Given the description of an element on the screen output the (x, y) to click on. 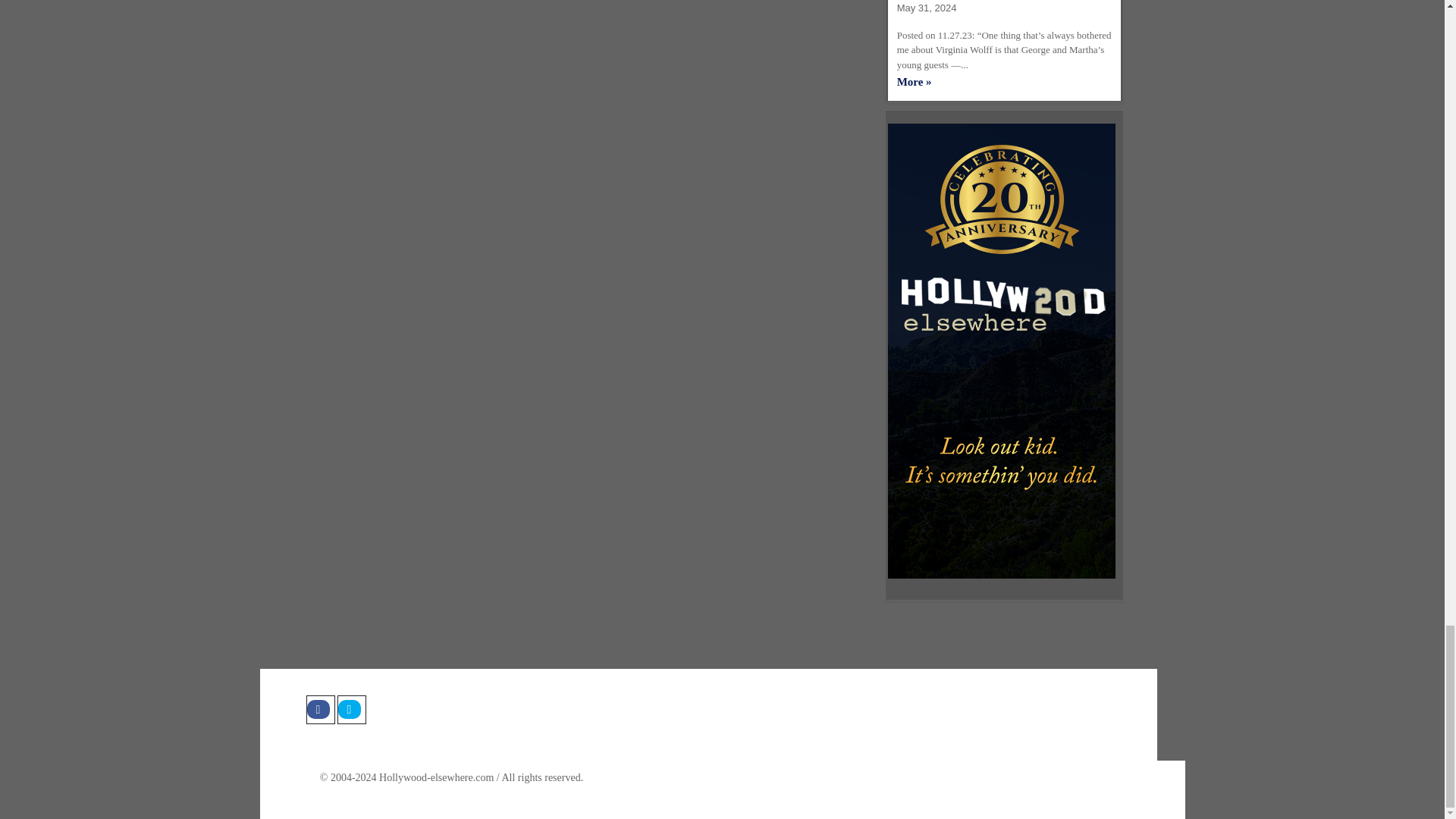
Facebook (319, 709)
Twitter (350, 709)
